Given the description of an element on the screen output the (x, y) to click on. 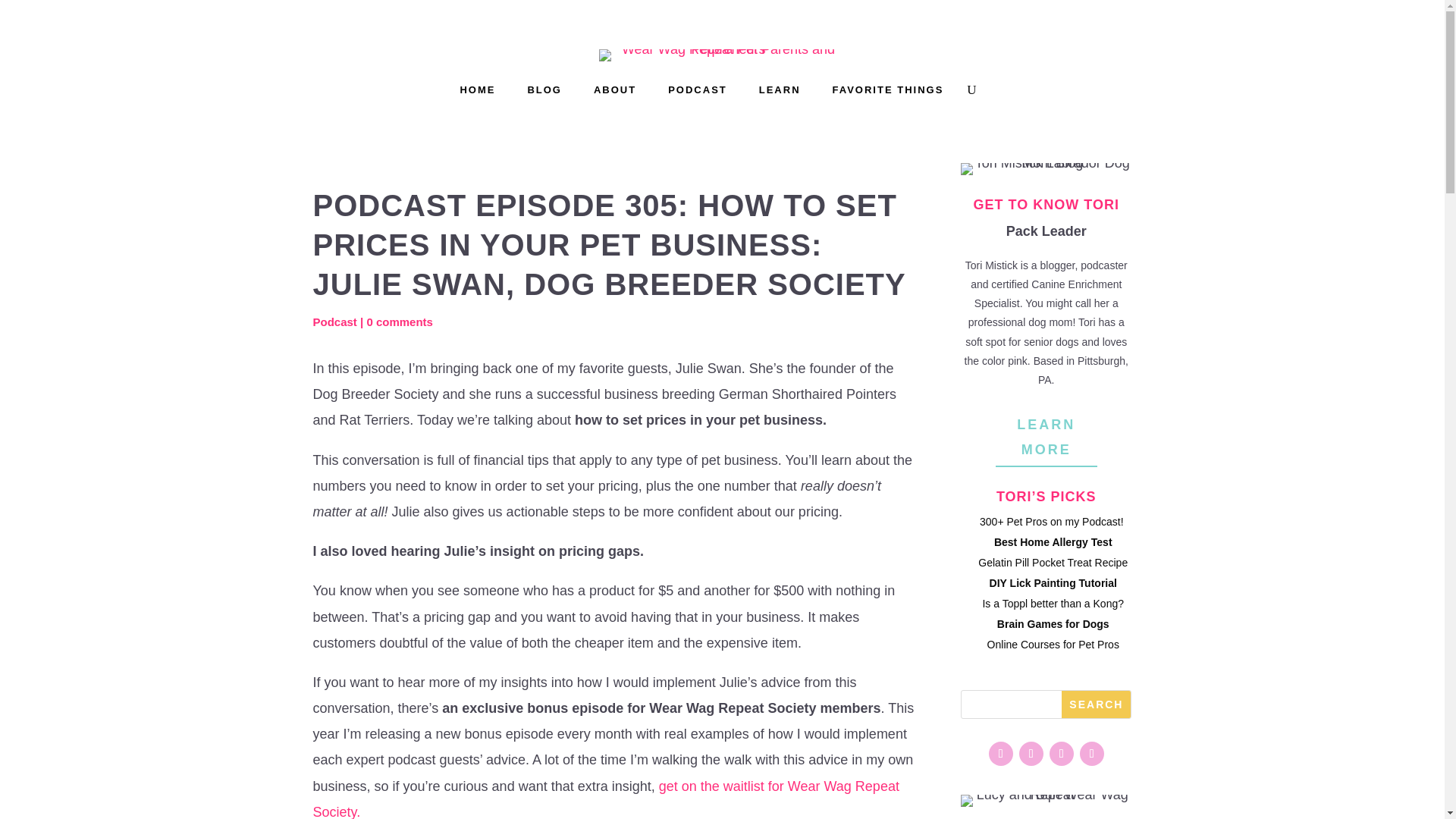
ABOUT (622, 93)
0 comments (399, 321)
Lucy and Burt Wear Wag Repeat (1045, 800)
Search (1096, 704)
LEARN (786, 93)
Best Home Allergy Test (1053, 541)
Follow on Youtube (1031, 753)
get on the waitlist for Wear Wag Repeat Society. (605, 798)
DIY Lick Painting Tutorial (1053, 582)
PODCAST (705, 93)
Wear Wag Repeat Pet Parents and Petpreneurs (721, 55)
HOME (485, 93)
Tori Mistick Labrador Dog Mom Blog (1045, 168)
FAVORITE THINGS (895, 93)
Follow on Facebook (1091, 753)
